Given the description of an element on the screen output the (x, y) to click on. 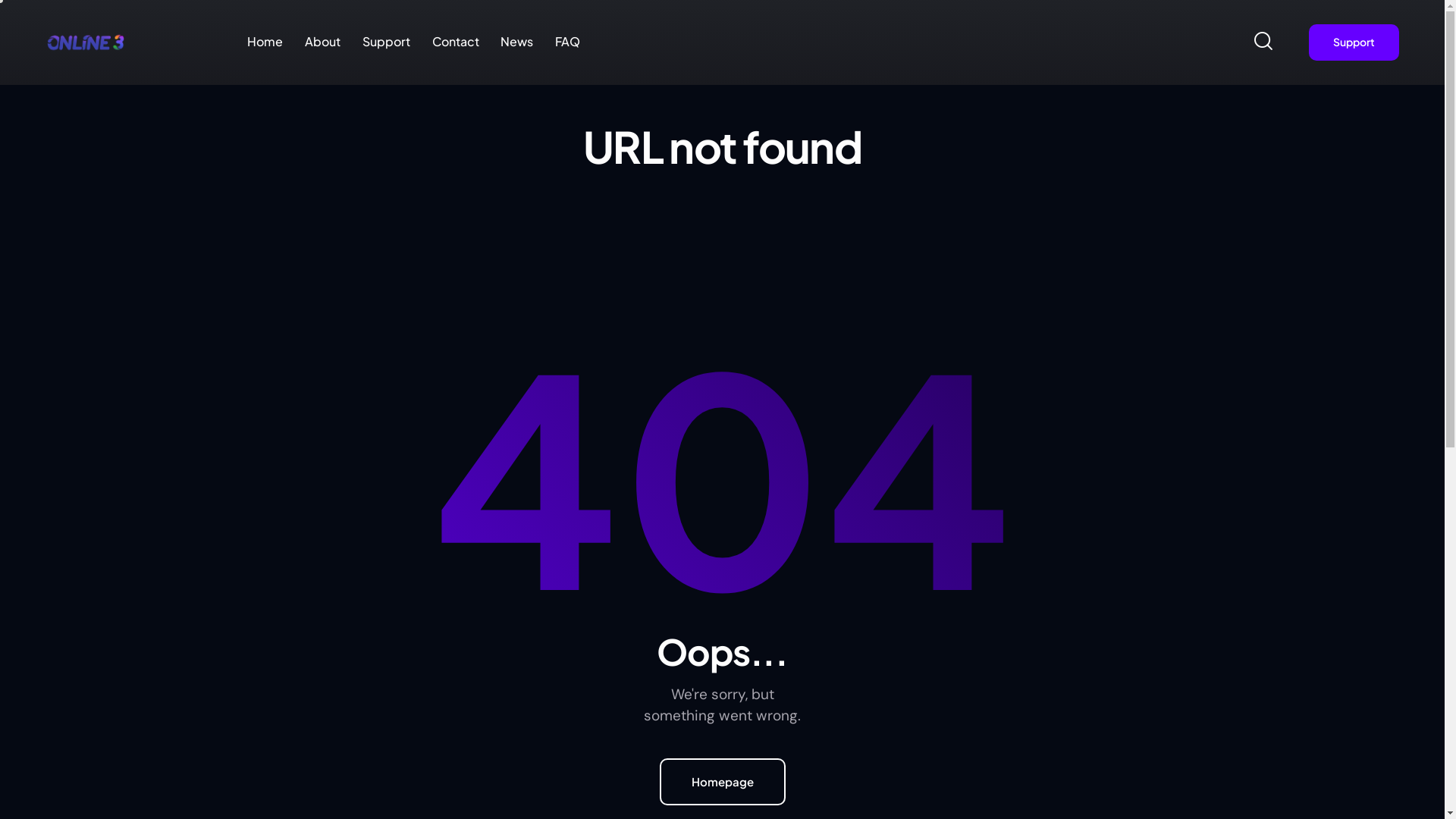
Support Element type: text (1353, 42)
Home Element type: text (265, 42)
FAQ Element type: text (567, 42)
Contact Element type: text (454, 42)
Support Element type: text (385, 42)
News Element type: text (516, 42)
About Element type: text (322, 42)
Homepage Element type: text (722, 781)
